Given the description of an element on the screen output the (x, y) to click on. 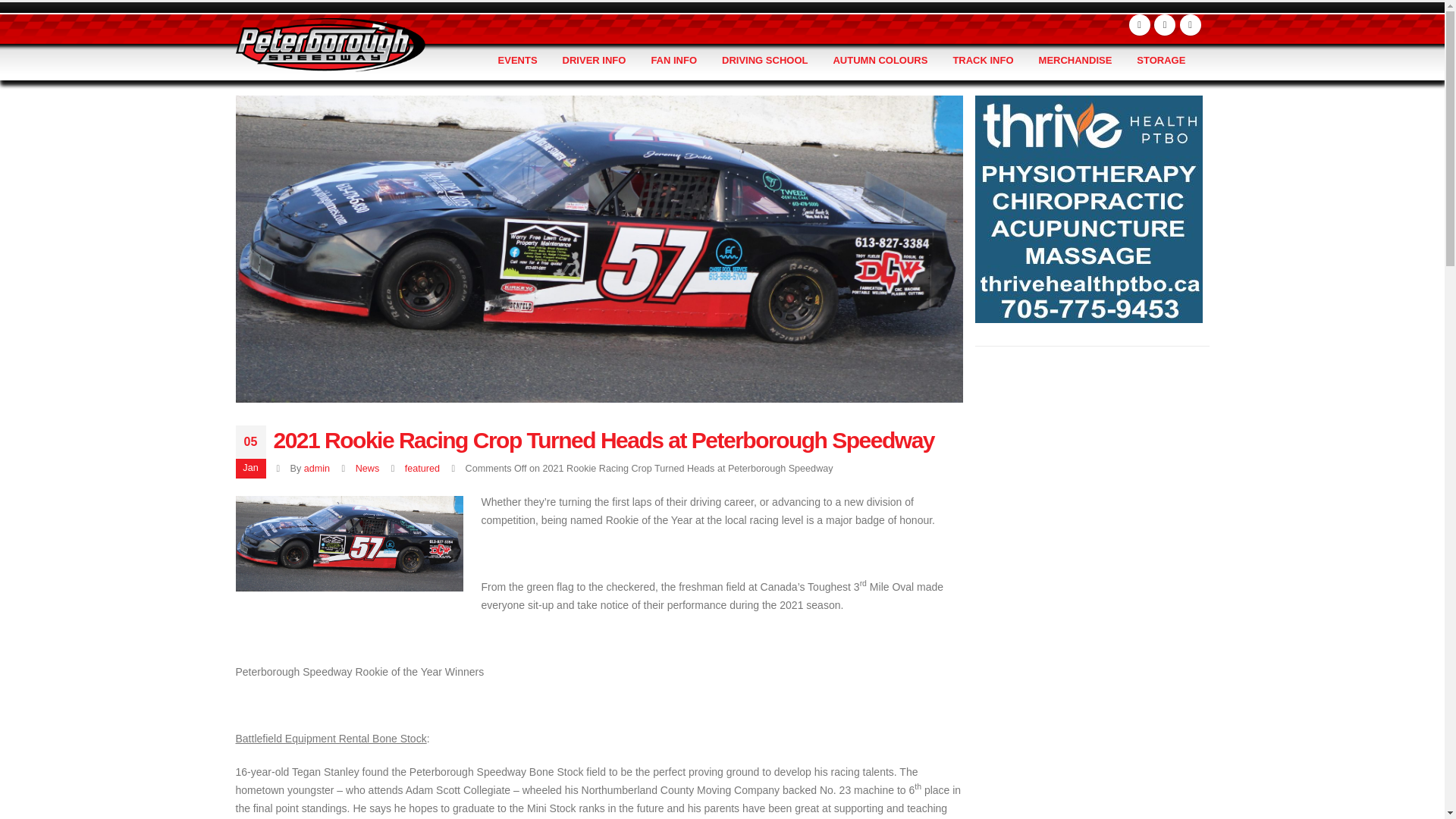
Instagram (1190, 25)
Youtube (1164, 25)
Facebook (1139, 25)
FAN INFO (674, 60)
Posts by admin (317, 467)
Peterborough Speedway -  (329, 44)
DRIVER INFO (594, 60)
EVENTS (518, 60)
AUTUMN COLOURS (880, 60)
DRIVING SCHOOL (764, 60)
